Given the description of an element on the screen output the (x, y) to click on. 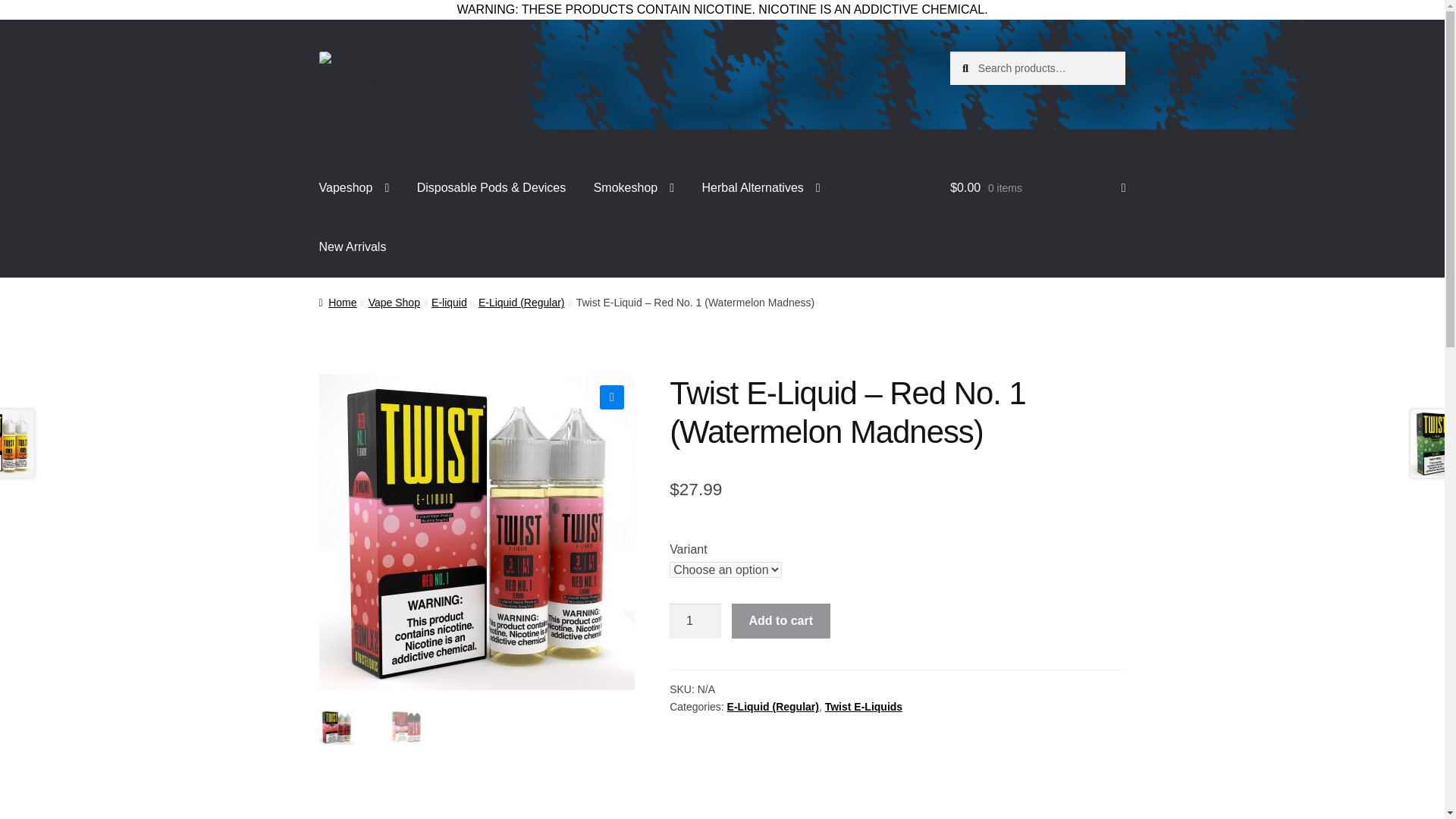
1 (694, 620)
Vapeshop (354, 187)
Smokeshop (632, 187)
Herbal Alternatives (759, 187)
1de13aa5-e3ff-49d8-b8ca-193515d340b3.jpeg (476, 532)
9ae0bdd3-43be-4622-8baa-2f1bd11f9b33.jpeg (792, 532)
View your shopping cart (1037, 187)
